Given the description of an element on the screen output the (x, y) to click on. 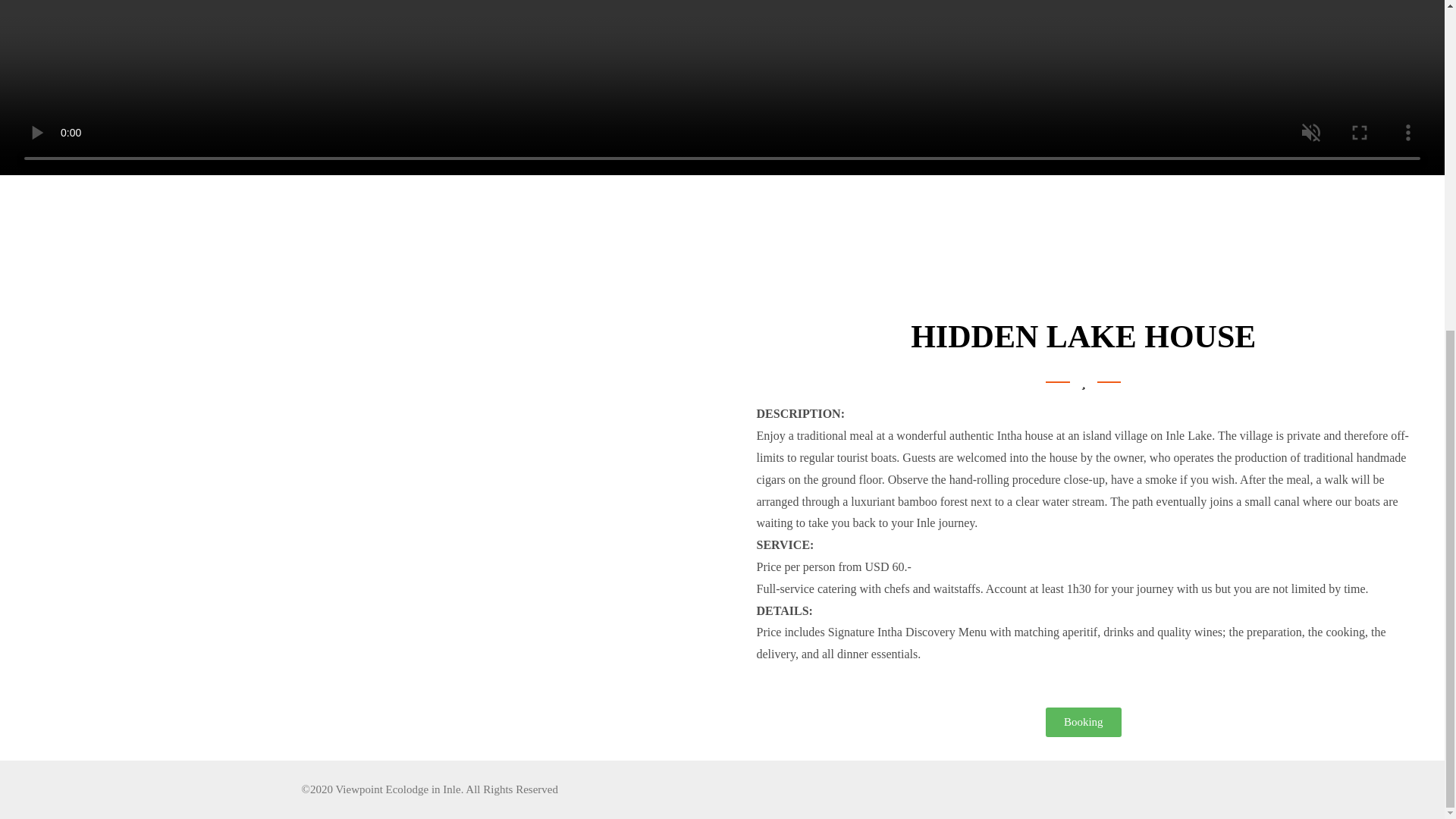
Booking (1083, 722)
